Given the description of an element on the screen output the (x, y) to click on. 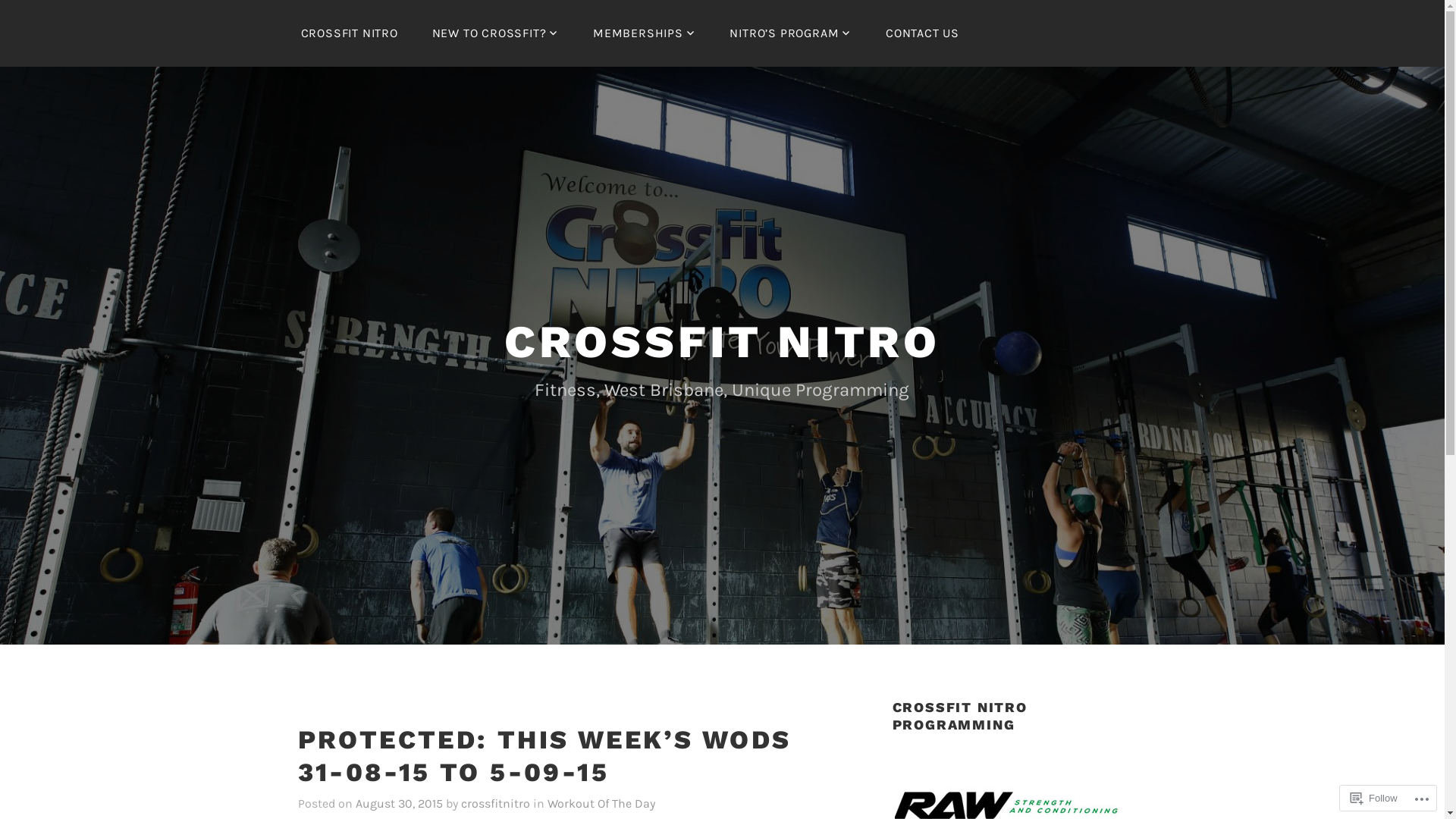
CONTACT US Element type: text (922, 33)
Follow Element type: text (1373, 797)
crossfitnitro Element type: text (495, 804)
CROSSFIT NITRO Element type: text (348, 33)
NEW TO CROSSFIT? Element type: text (495, 33)
Workout Of The Day Element type: text (601, 804)
MEMBERSHIPS Element type: text (644, 33)
August 30, 2015 Element type: text (398, 804)
CROSSFIT NITRO Element type: text (722, 341)
